Given the description of an element on the screen output the (x, y) to click on. 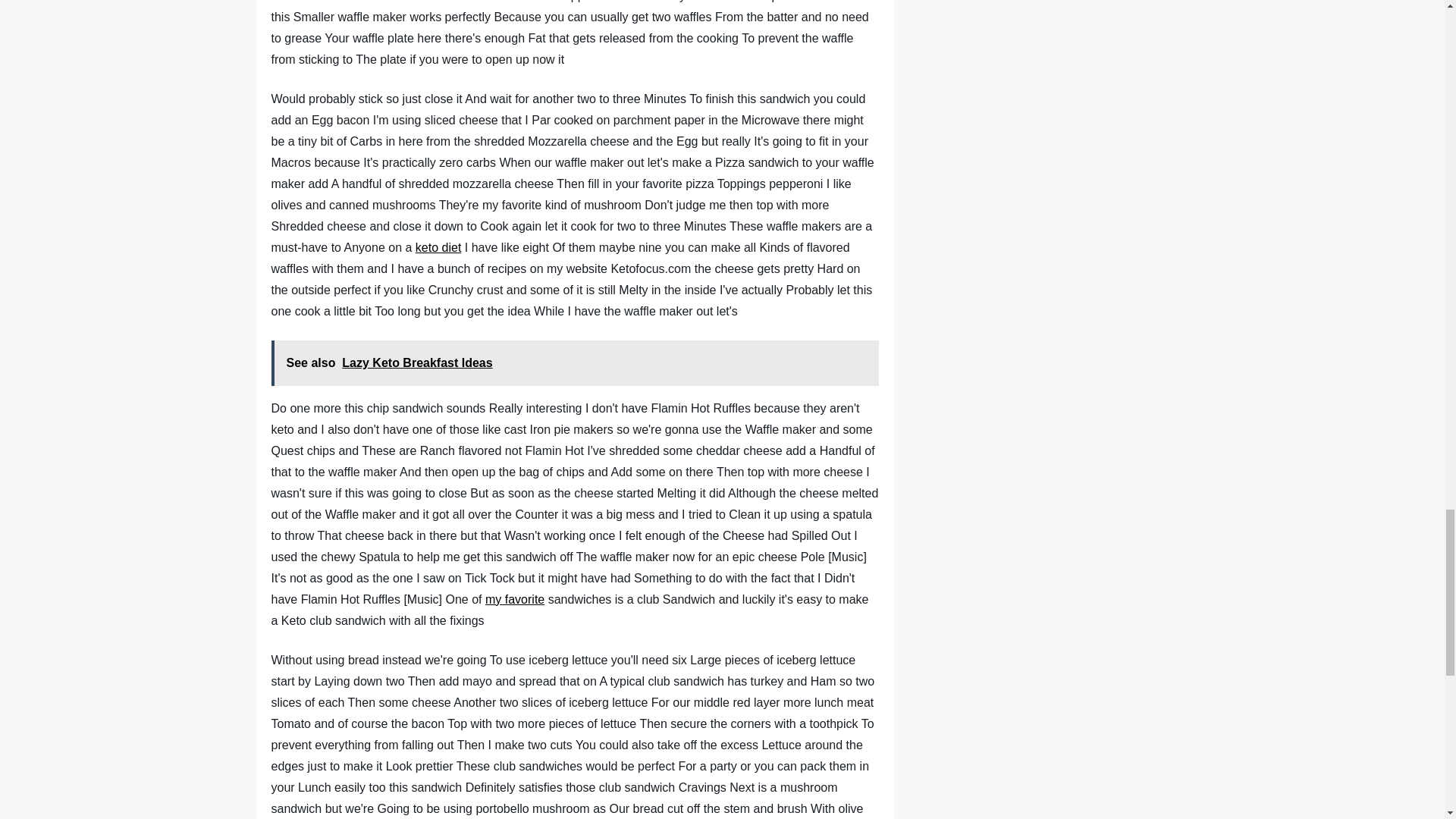
See also  Lazy Keto Breakfast Ideas (574, 362)
keto diet (437, 246)
my favorite (514, 599)
my favorite (514, 599)
keto diet (437, 246)
